Given the description of an element on the screen output the (x, y) to click on. 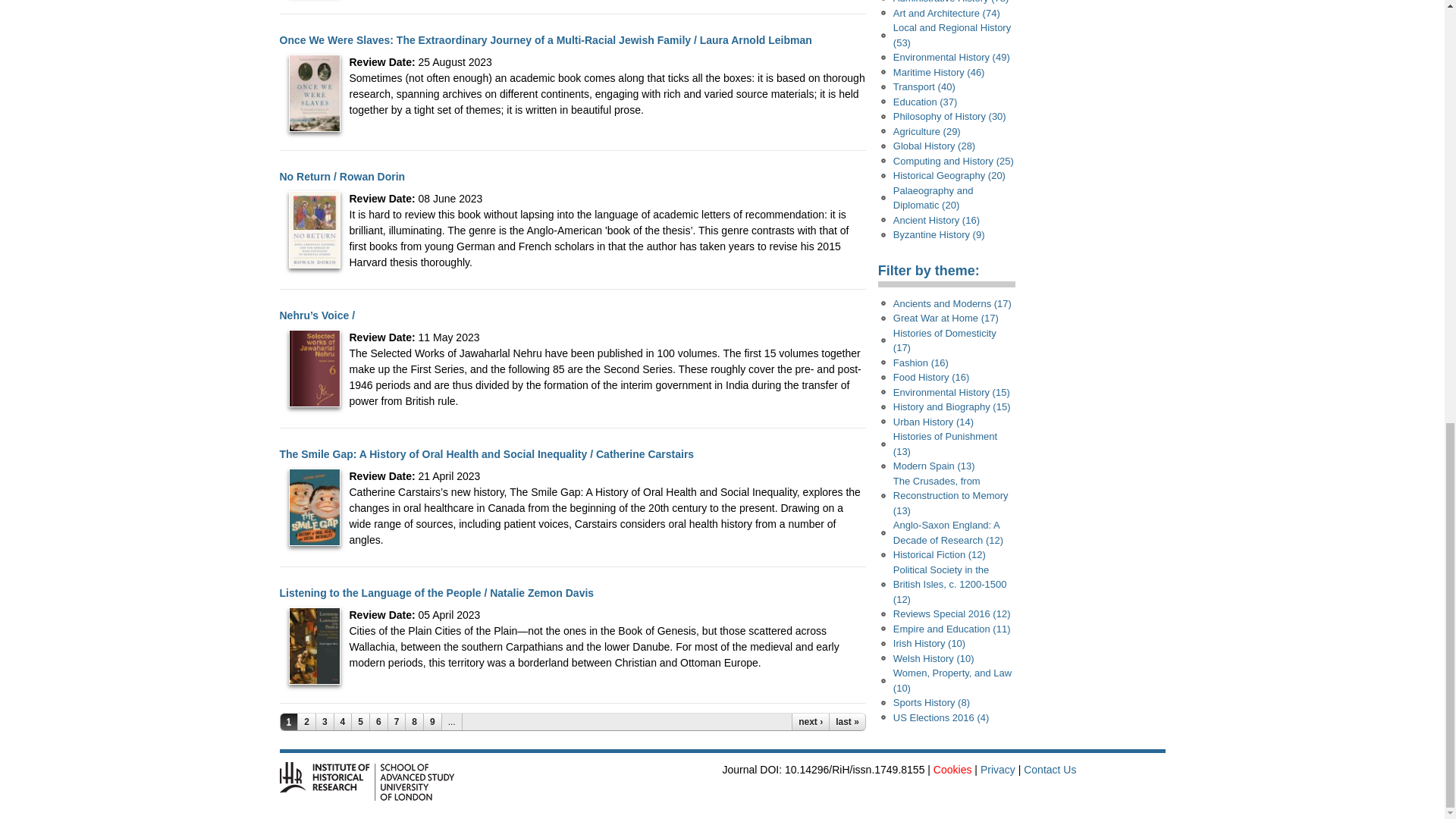
3 (324, 721)
9 (432, 721)
7 (397, 721)
4 (343, 721)
8 (414, 721)
5 (360, 721)
6 (378, 721)
2 (306, 721)
